Given the description of an element on the screen output the (x, y) to click on. 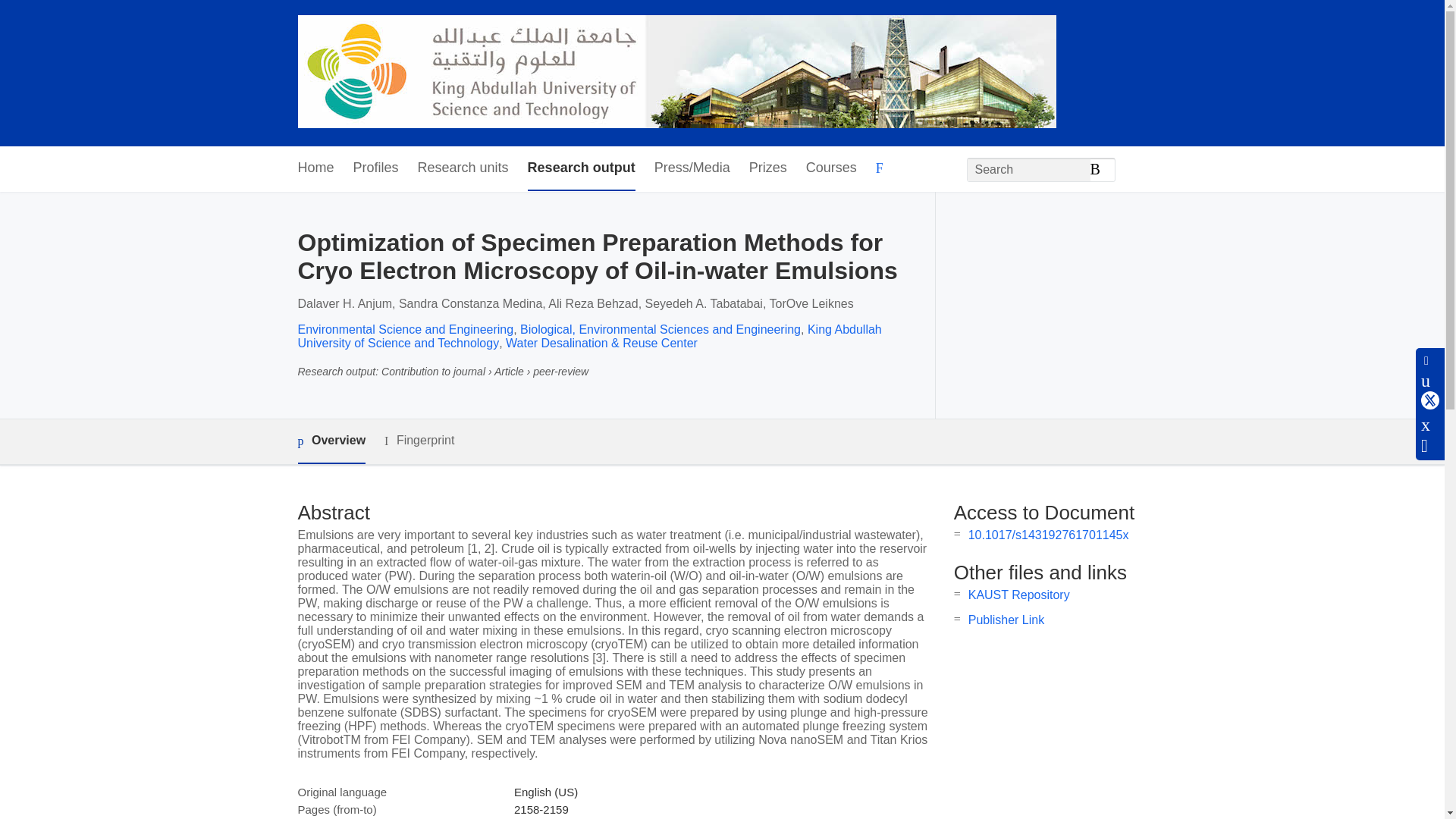
Profiles (375, 168)
KAUST Repository (1019, 594)
Courses (831, 168)
Environmental Science and Engineering (405, 328)
Biological, Environmental Sciences and Engineering (659, 328)
Research output (580, 168)
KAUST FACULTY PORTAL Home (676, 73)
Publisher Link (1006, 619)
Research units (462, 168)
